Given the description of an element on the screen output the (x, y) to click on. 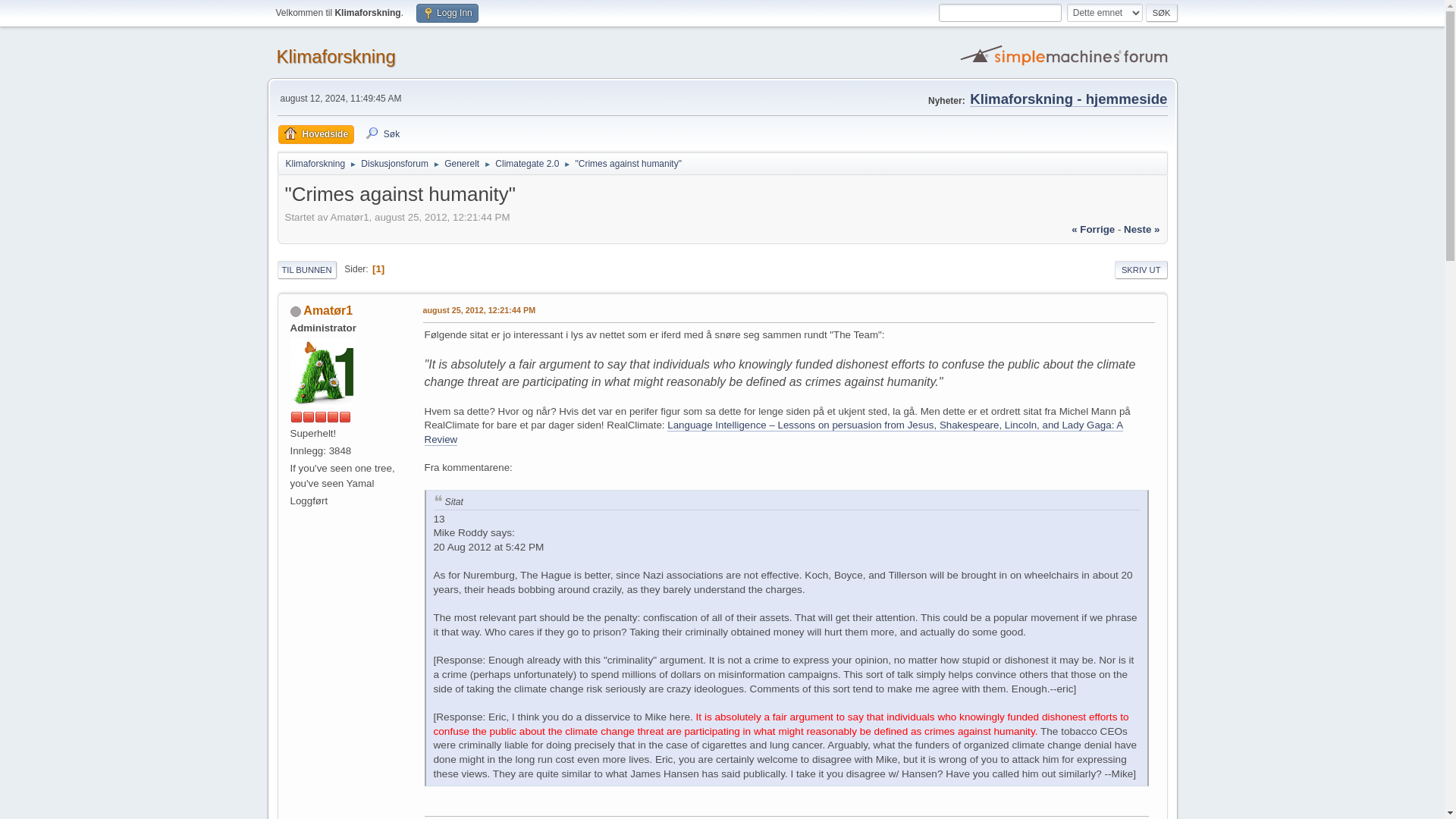
"Crimes against humanity" (479, 310)
Klimaforskning (315, 160)
Generelt (461, 160)
SKRIV UT (1141, 270)
Simple Machines Forum (1064, 54)
Diskusjonsforum (394, 160)
Utlogget (294, 311)
Logg Inn (447, 13)
Klimaforskning (335, 55)
Hovedside (315, 134)
